Given the description of an element on the screen output the (x, y) to click on. 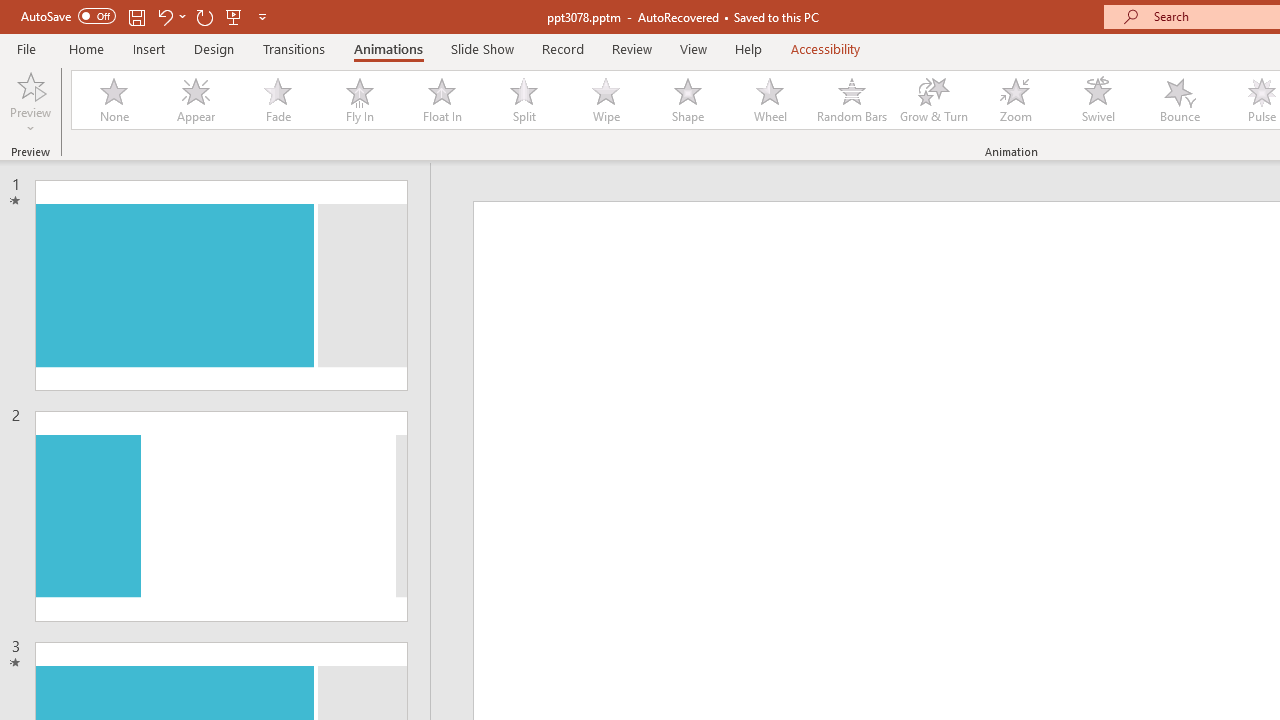
Fly In (359, 100)
Split (523, 100)
Bounce (1180, 100)
None (113, 100)
